Given the description of an element on the screen output the (x, y) to click on. 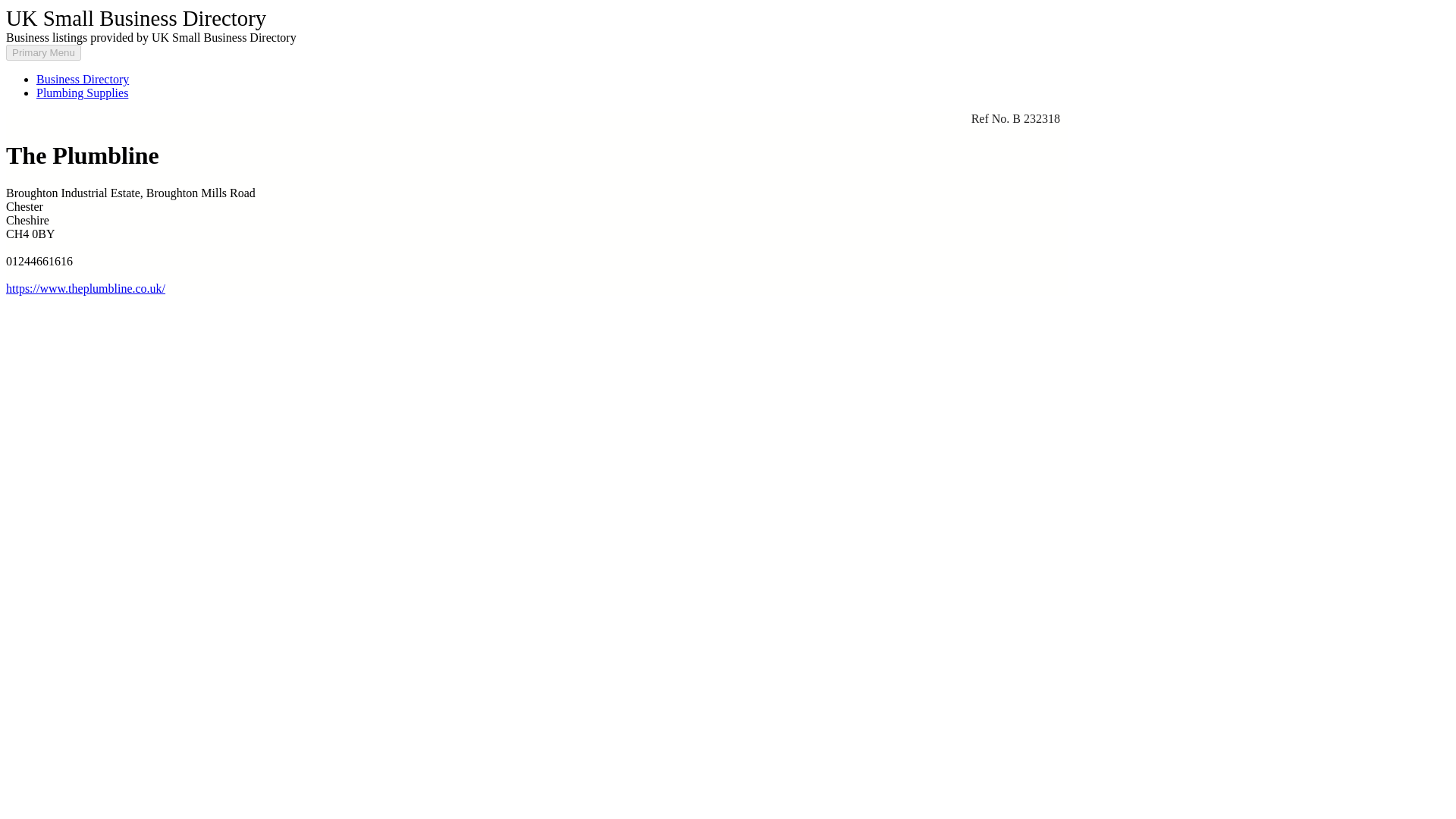
Plumbing Supplies (82, 92)
Business Directory (82, 78)
Primary Menu (43, 52)
